Given the description of an element on the screen output the (x, y) to click on. 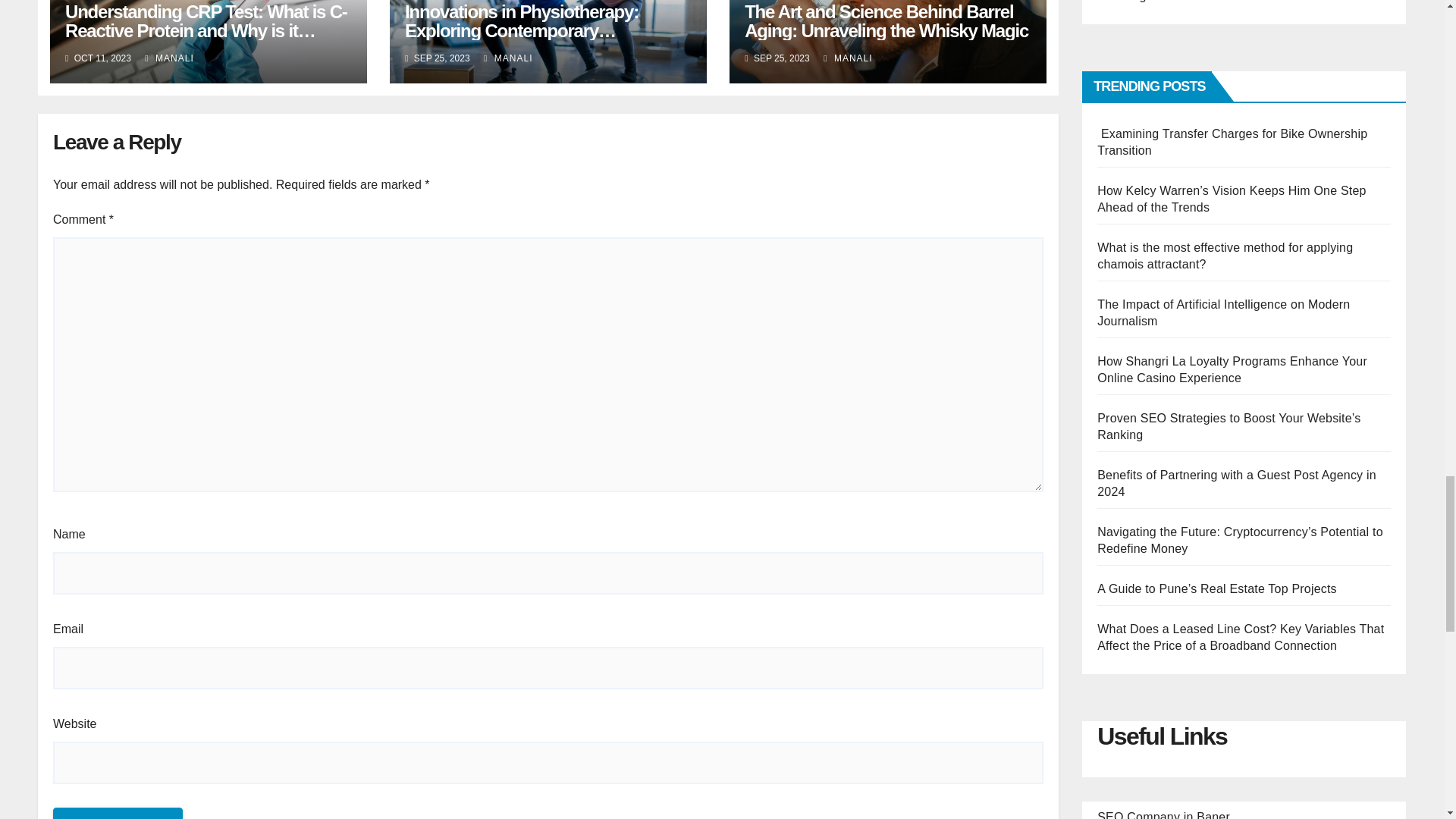
Post Comment (117, 813)
MANALI (848, 58)
MANALI (168, 58)
MANALI (507, 58)
